Given the description of an element on the screen output the (x, y) to click on. 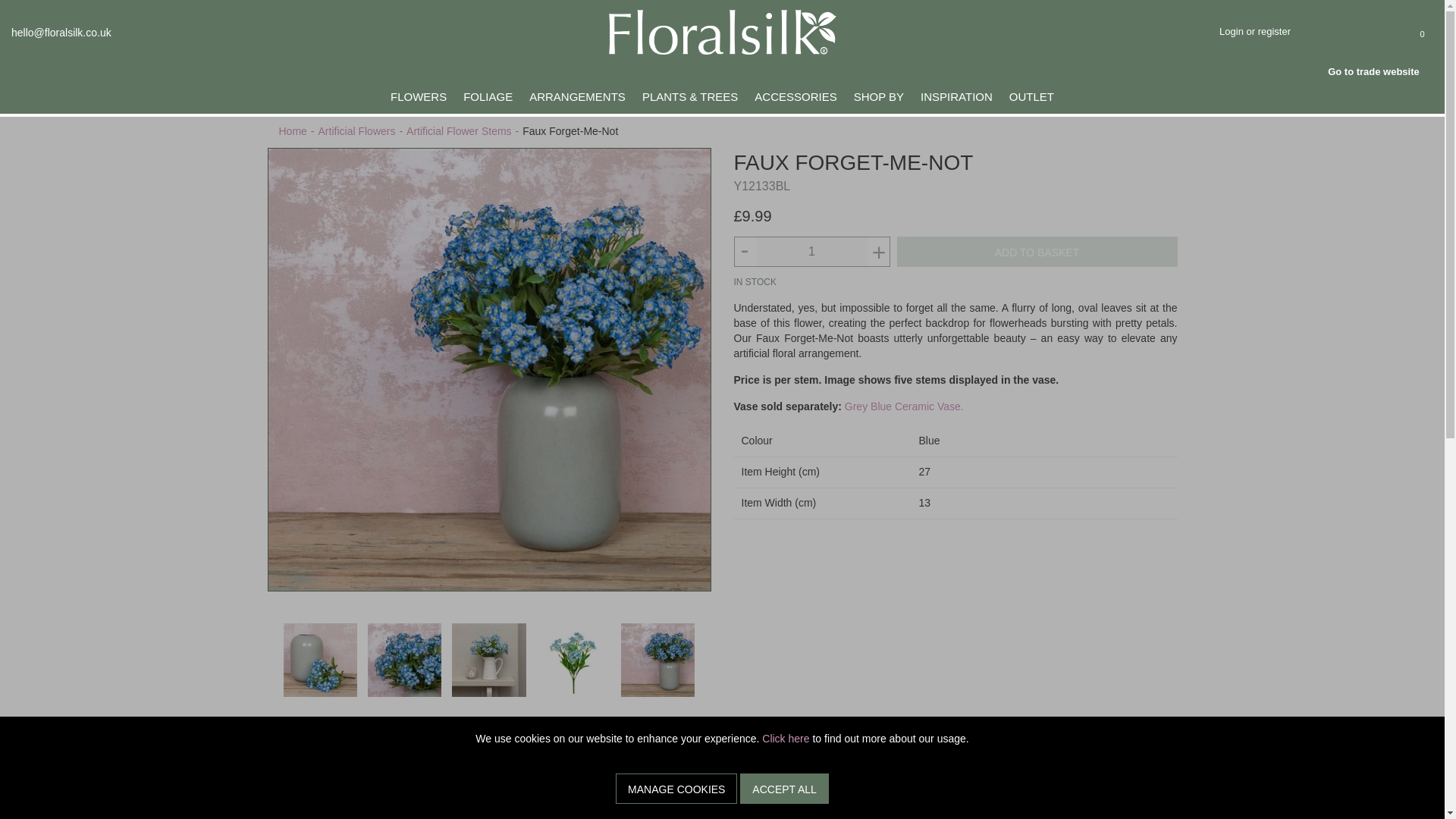
Floralsilk (721, 30)
ARRANGEMENTS (577, 96)
Go to trade website  (1379, 71)
Foliage (487, 96)
FOLIAGE (487, 96)
Flowers (417, 96)
1 (812, 251)
Floralsilk Trade (1379, 71)
FLOWERS (417, 96)
Login or register (1272, 30)
Wishlist (1350, 32)
Login or register (1272, 30)
